Given the description of an element on the screen output the (x, y) to click on. 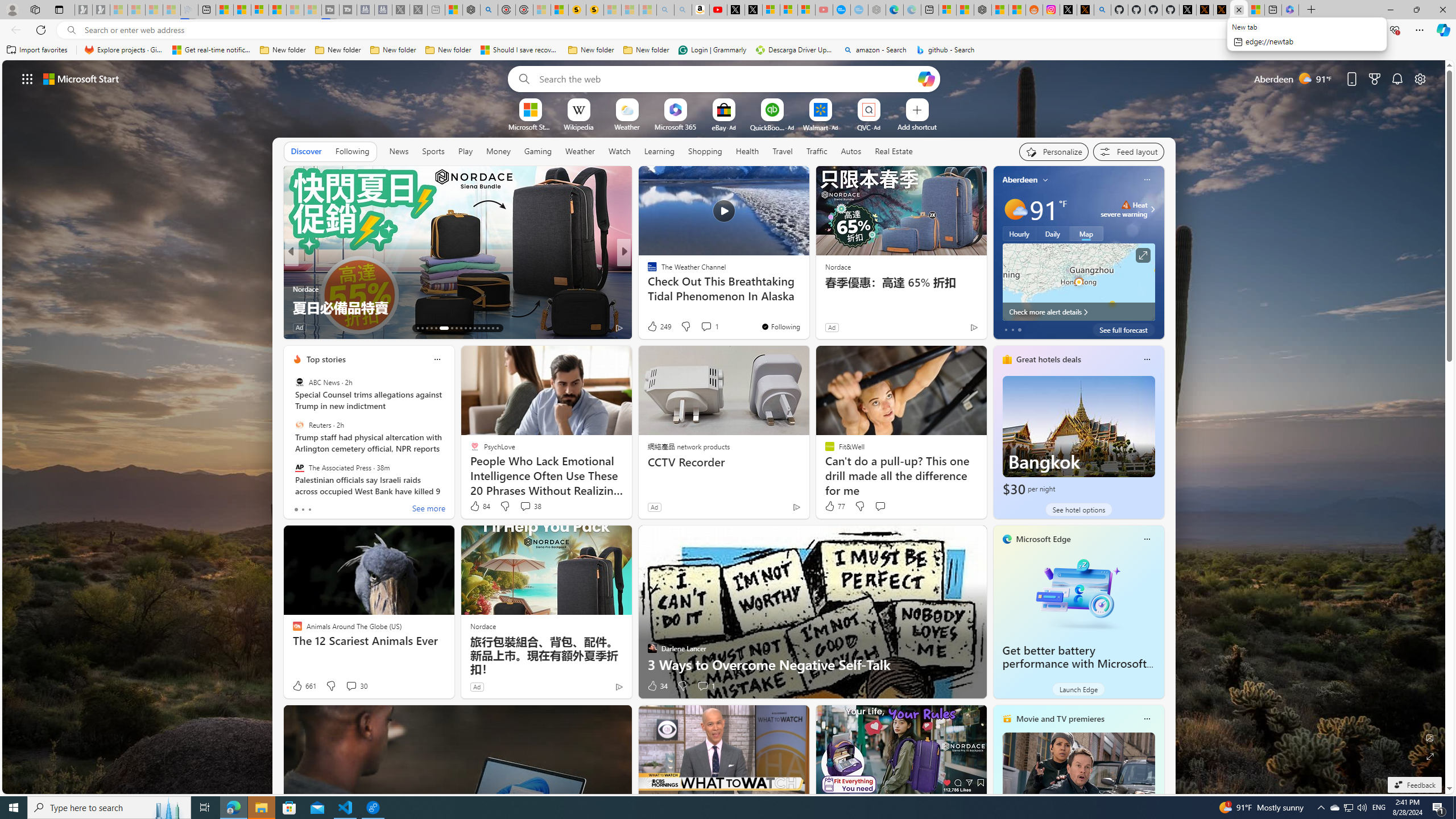
AutomationID: tab-24 (474, 328)
Address and search bar (692, 29)
Mostly sunny (1014, 208)
Get better battery performance with Microsoft Edge (1074, 664)
Overview (259, 9)
Discover (306, 151)
Play (465, 151)
hotels-header-icon (1006, 358)
Wikipedia (578, 126)
github - Search (945, 49)
Microsoft Start - Sleeping (294, 9)
Refresh (40, 29)
